Given the description of an element on the screen output the (x, y) to click on. 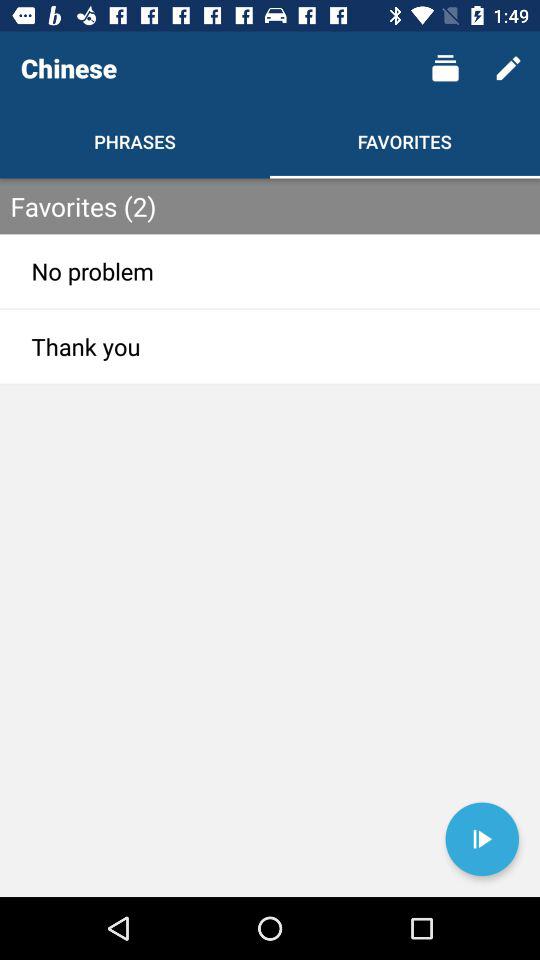
click the icon above favorites (2) (508, 67)
